Given the description of an element on the screen output the (x, y) to click on. 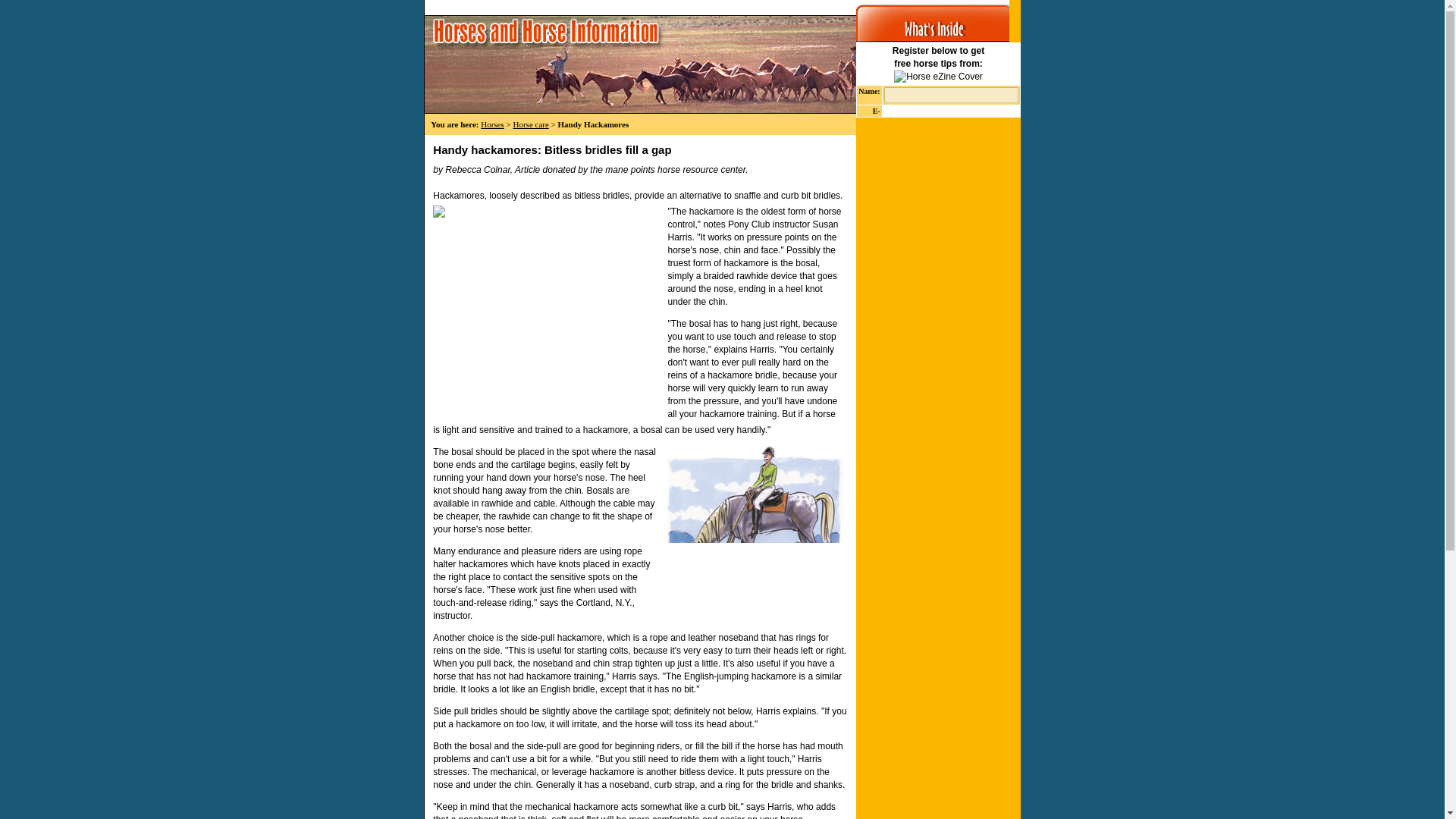
Horses (491, 123)
Horse care (530, 123)
Advertisement (546, 299)
